Given the description of an element on the screen output the (x, y) to click on. 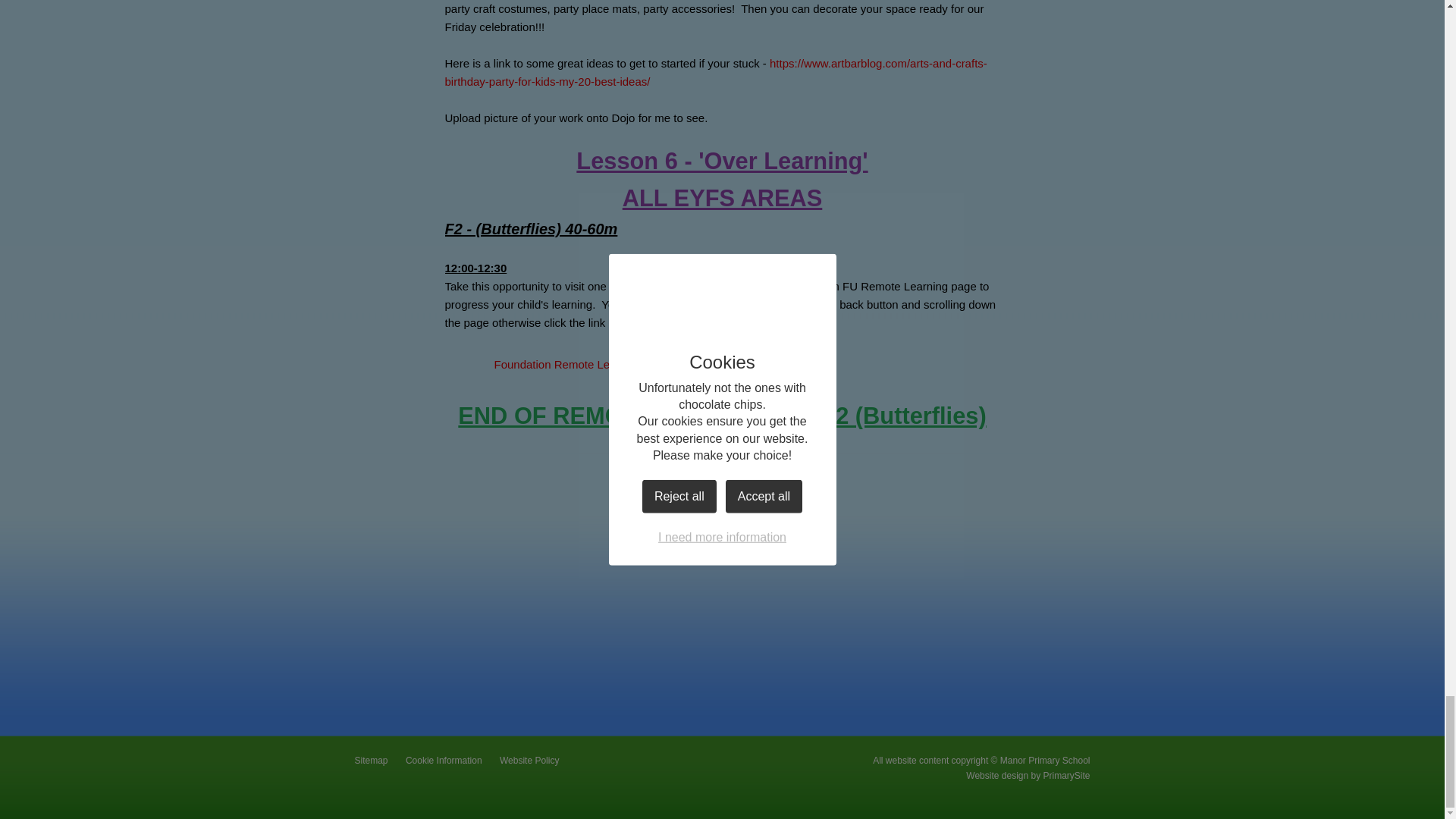
Foundation Remote Learning Page (557, 364)
